Given the description of an element on the screen output the (x, y) to click on. 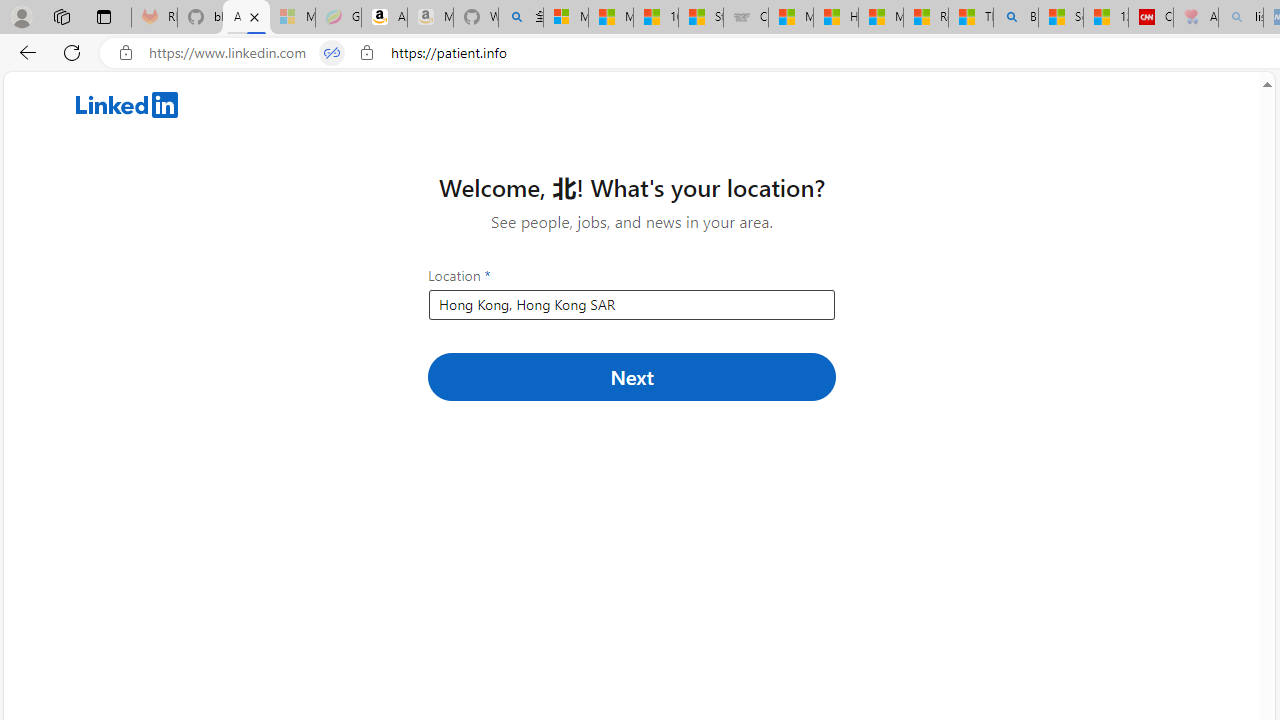
Recipes - MSN (925, 17)
Close tab (253, 16)
Tab actions menu (104, 16)
Combat Siege (745, 17)
Asthma Inhalers: Names and Types (246, 17)
Arthritis: Ask Health Professionals - Sleeping (1195, 17)
Refresh (72, 52)
12 Popular Science Lies that Must be Corrected (1105, 17)
Microsoft Start (880, 17)
Personal Profile (21, 16)
